Given the description of an element on the screen output the (x, y) to click on. 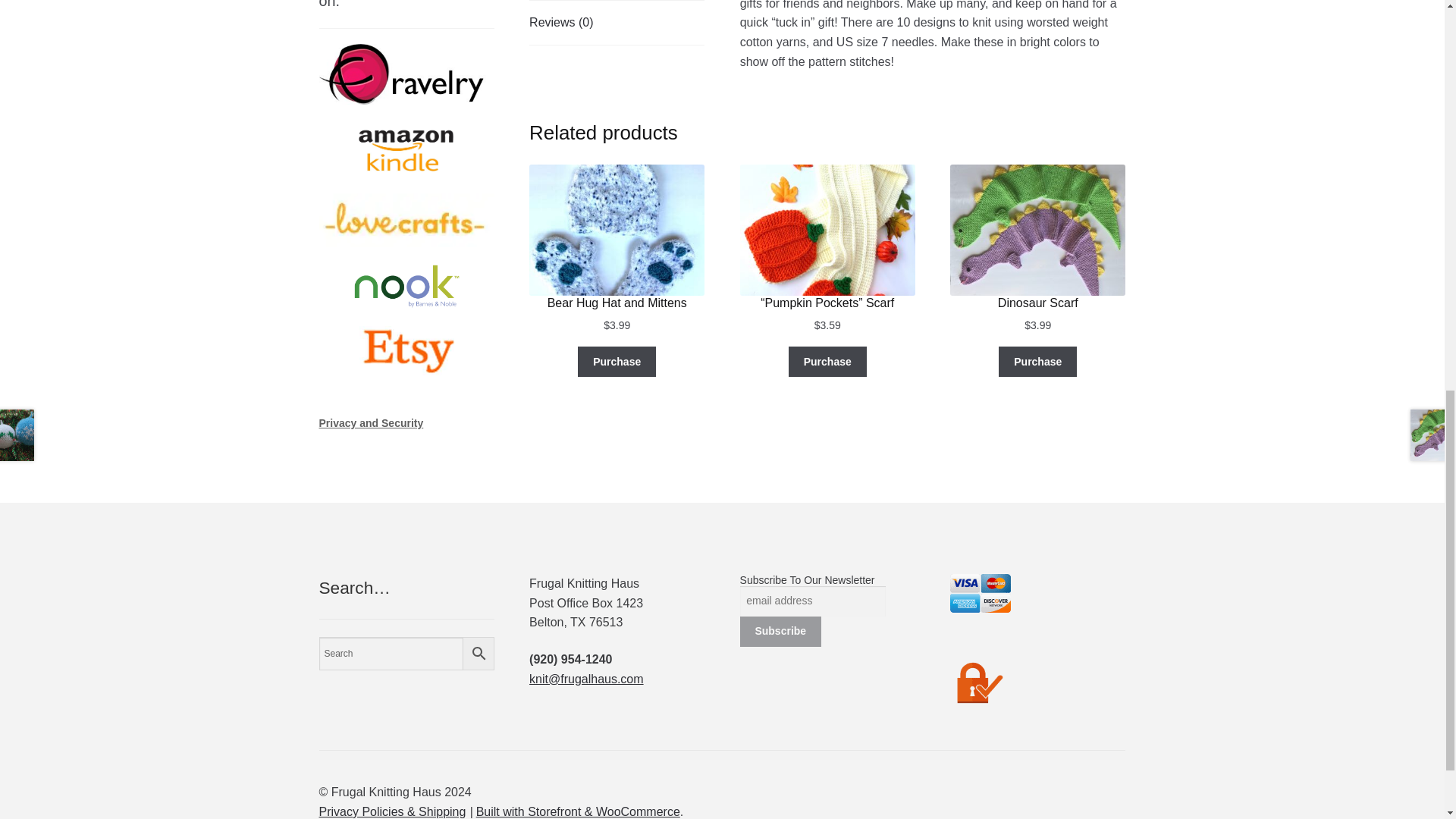
Purchase (617, 361)
WooCommerce - The Best eCommerce Platform for WordPress (577, 811)
Subscribe (780, 631)
